Given the description of an element on the screen output the (x, y) to click on. 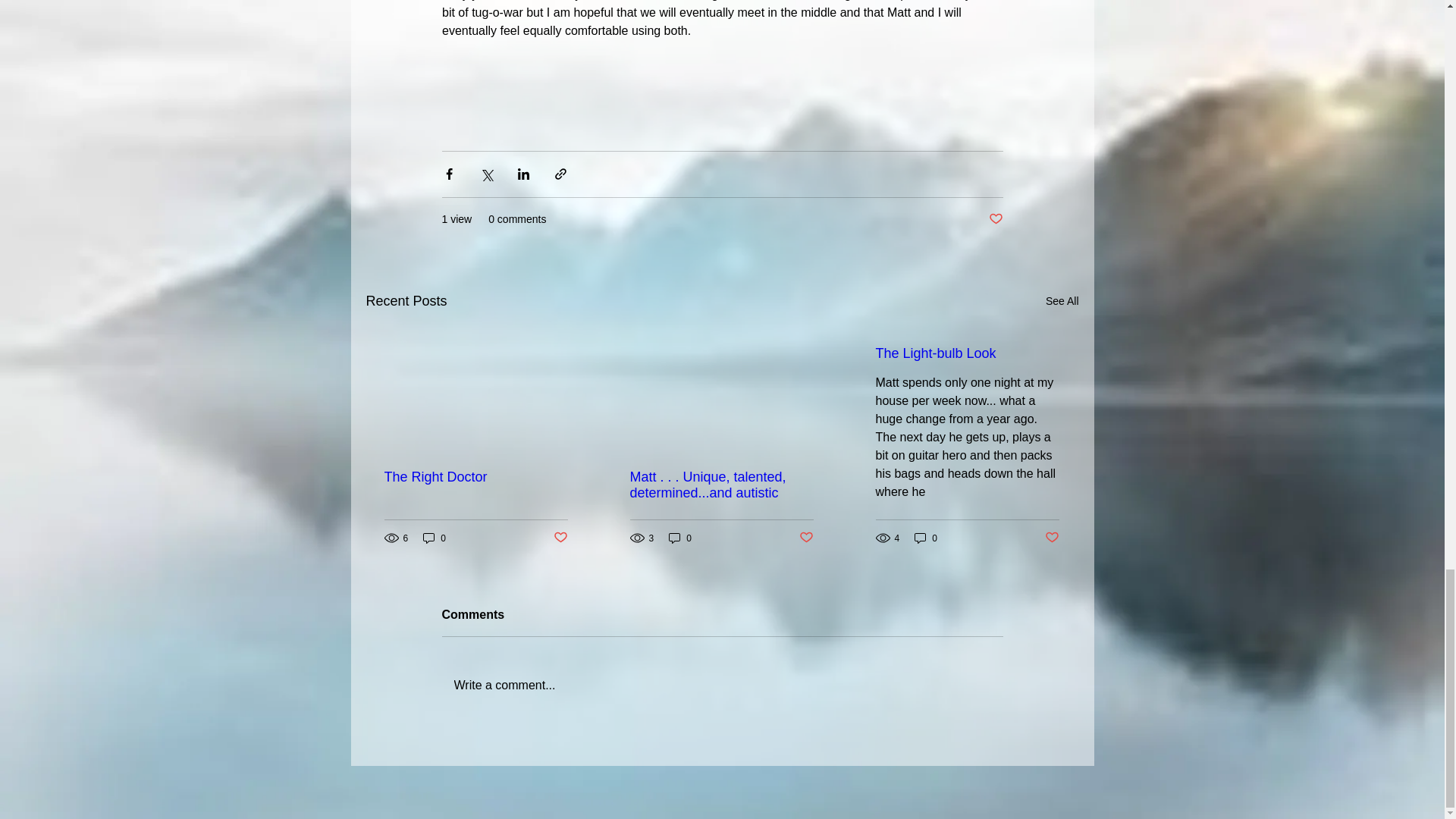
See All (1061, 301)
Post not marked as liked (995, 219)
0 (679, 537)
Post not marked as liked (560, 537)
0 (434, 537)
The Right Doctor (475, 477)
Matt . . . Unique, talented, determined...and autistic (720, 485)
